Given the description of an element on the screen output the (x, y) to click on. 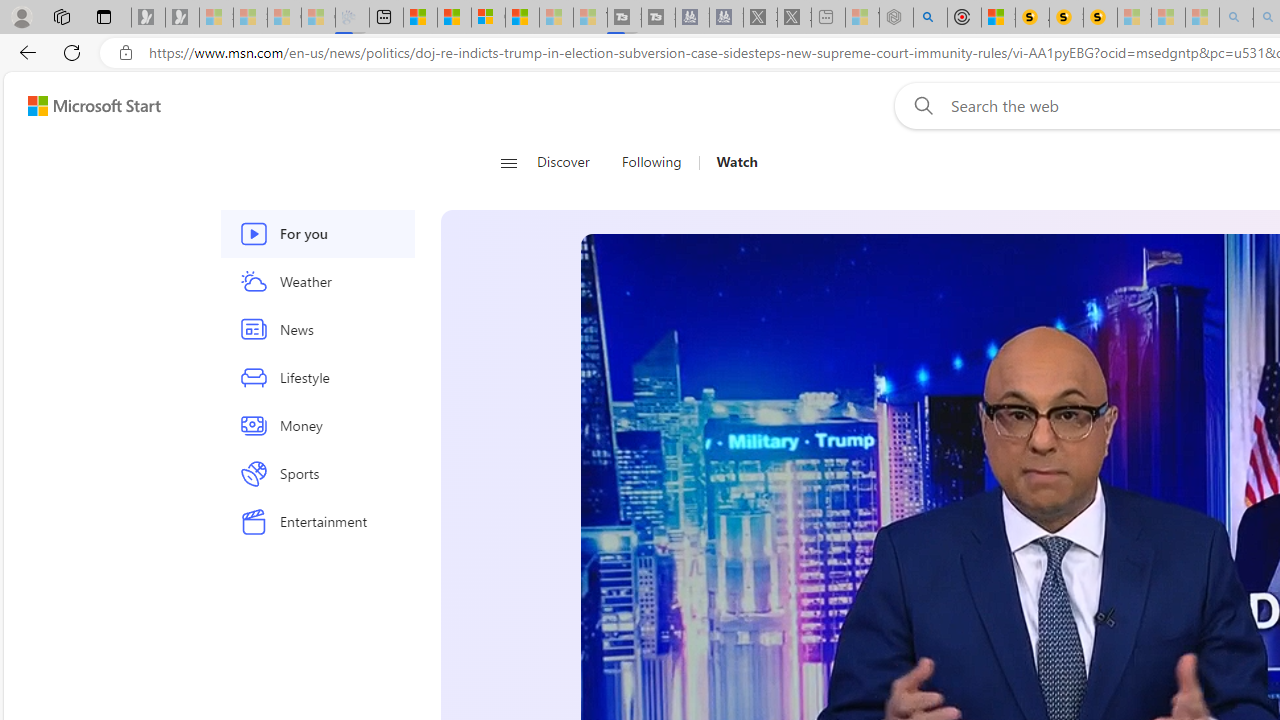
X - Sleeping (794, 17)
Microsoft Start - Sleeping (556, 17)
Class: button-glyph (508, 162)
poe - Search (930, 17)
Skip to footer (82, 105)
Watch (729, 162)
Nordace - Summer Adventures 2024 - Sleeping (895, 17)
